Given the description of an element on the screen output the (x, y) to click on. 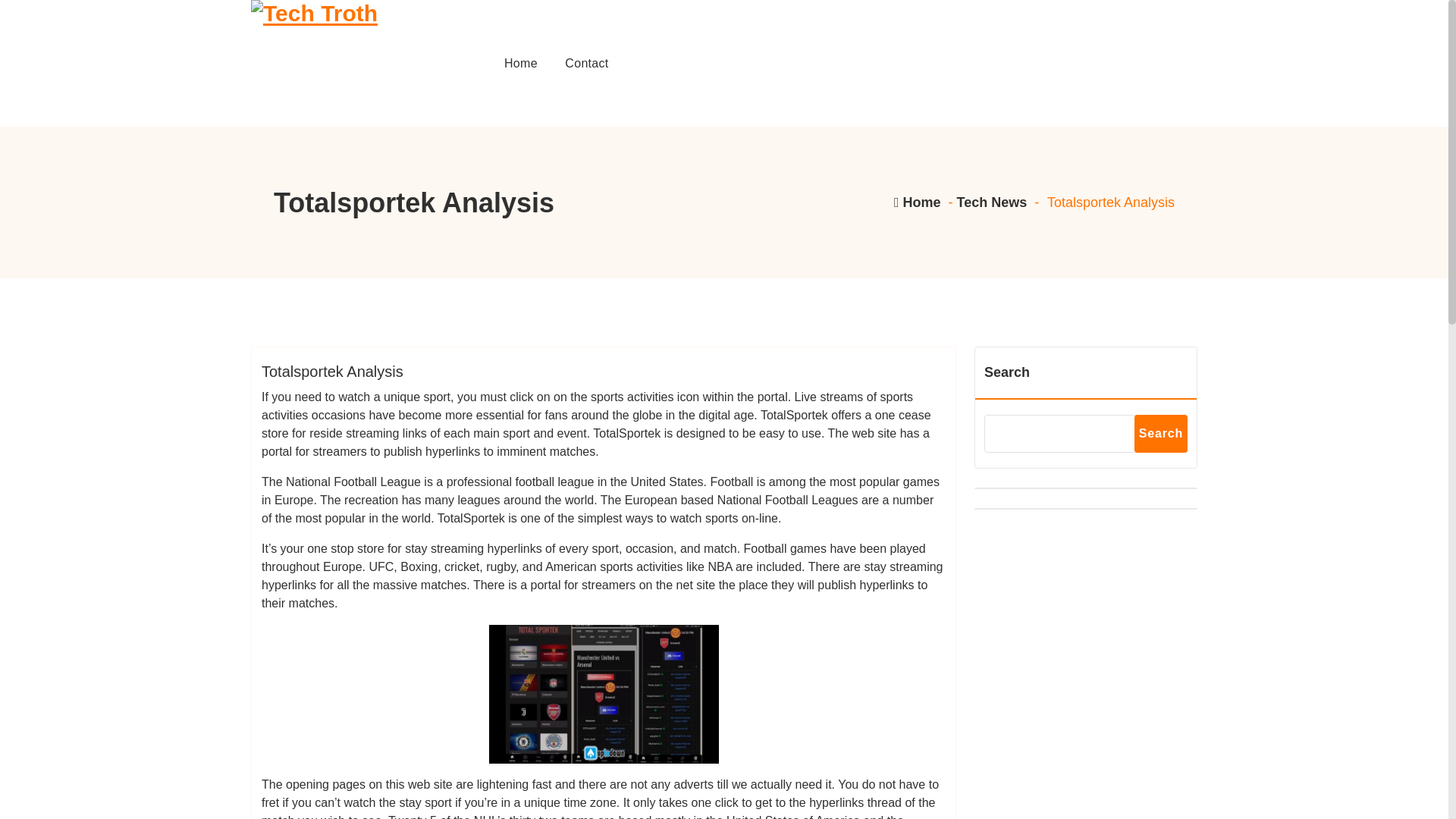
Tech News (991, 201)
Home (916, 201)
Contact (586, 63)
Contact (586, 63)
Home (521, 63)
Home (521, 63)
Search (1161, 433)
